Given the description of an element on the screen output the (x, y) to click on. 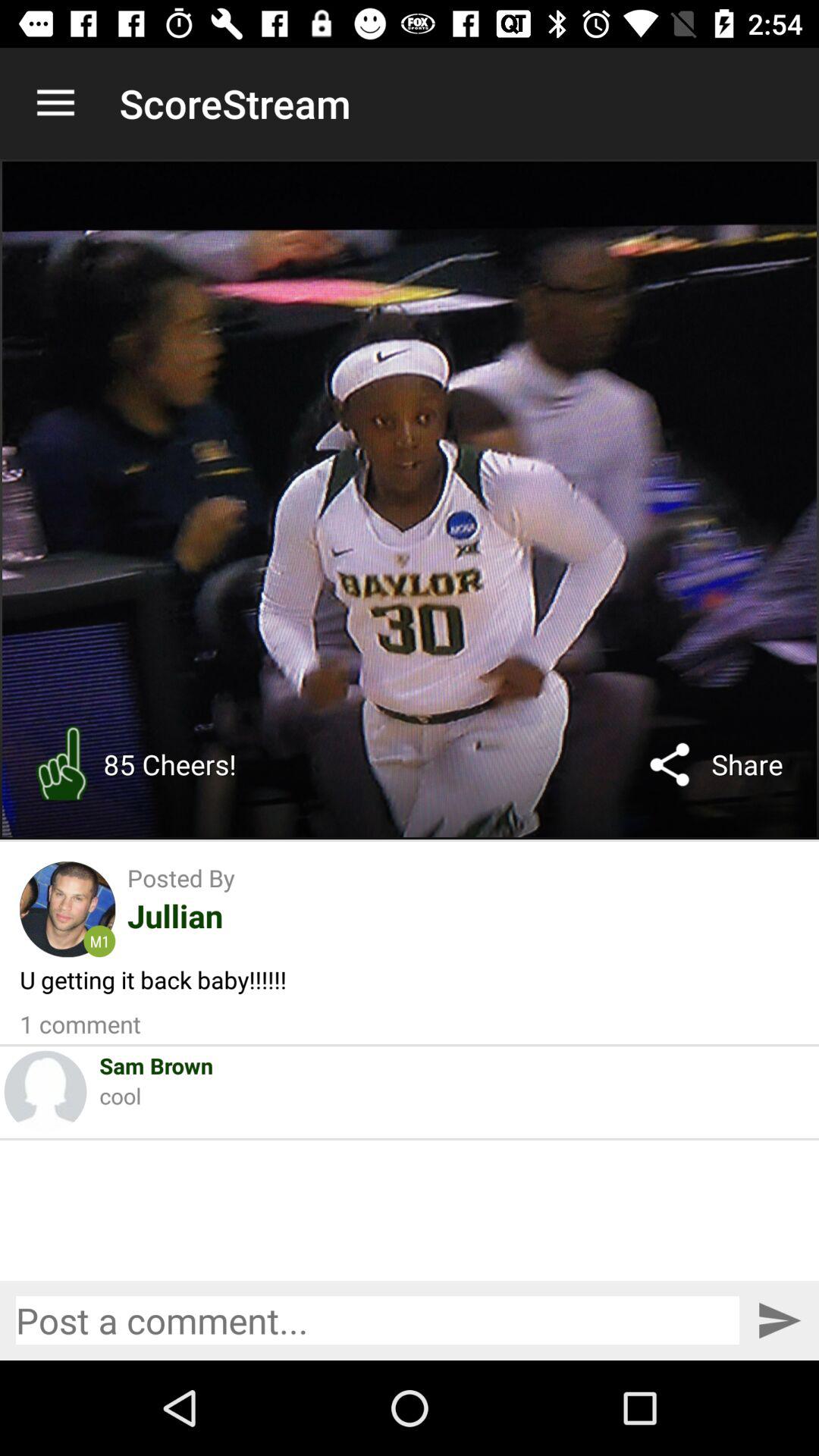
tap item to the left of the scorestream (55, 103)
